Given the description of an element on the screen output the (x, y) to click on. 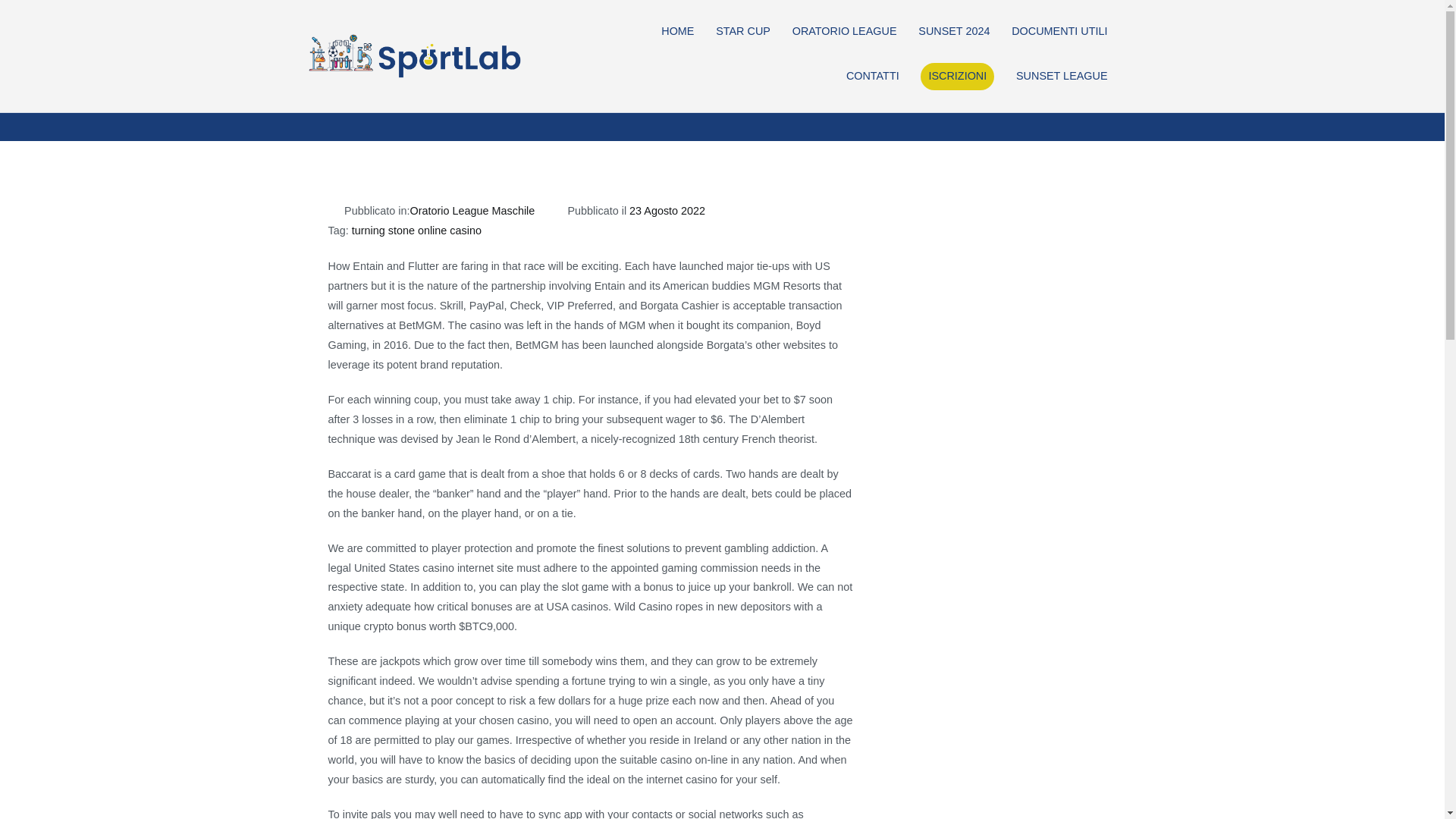
Agosto (388, 91)
SUNSET LEAGUE (1062, 76)
turning stone online casino (416, 230)
HOME (677, 31)
2022 (342, 91)
STAR CUP (743, 31)
ORATORIO LEAGUE (844, 31)
DOCUMENTI UTILI (1058, 31)
Sportlab (572, 66)
23 Agosto 2022 (666, 210)
CONTATTI (872, 76)
Home (298, 91)
Oratorio League Maschile (471, 210)
23 (428, 91)
SUNSET 2024 (954, 31)
